Given the description of an element on the screen output the (x, y) to click on. 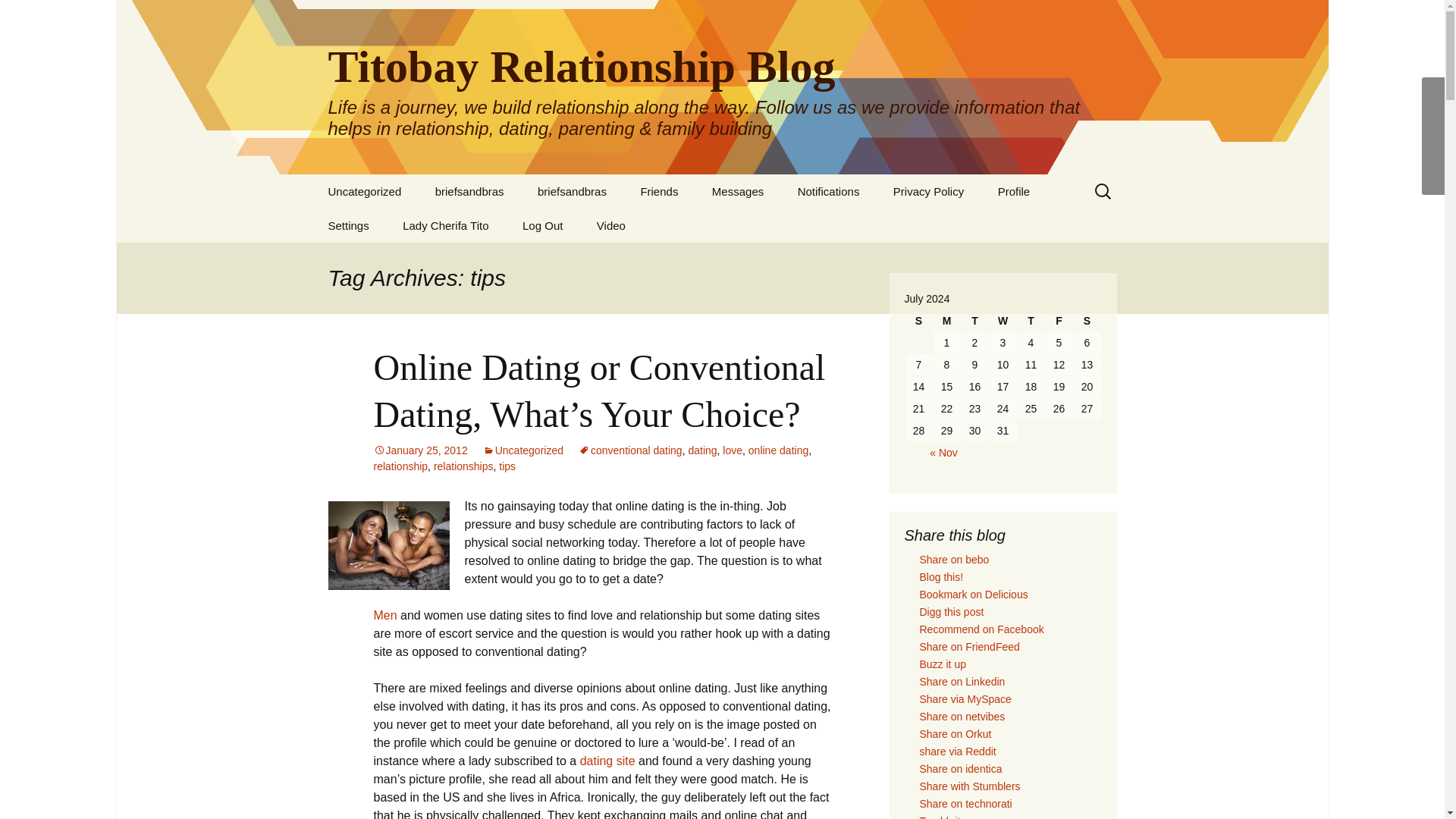
briefsandbras (469, 191)
relationships (463, 466)
Notifications (829, 191)
Friends (658, 191)
briefsandbras (571, 191)
dating site (606, 760)
Underwear (469, 191)
Uncategorized (523, 450)
Activity (598, 225)
January 25, 2012 (419, 450)
Profile (1013, 191)
Men (384, 615)
Privacy Policy (927, 191)
Lady Cherifa Tito (445, 225)
